Given the description of an element on the screen output the (x, y) to click on. 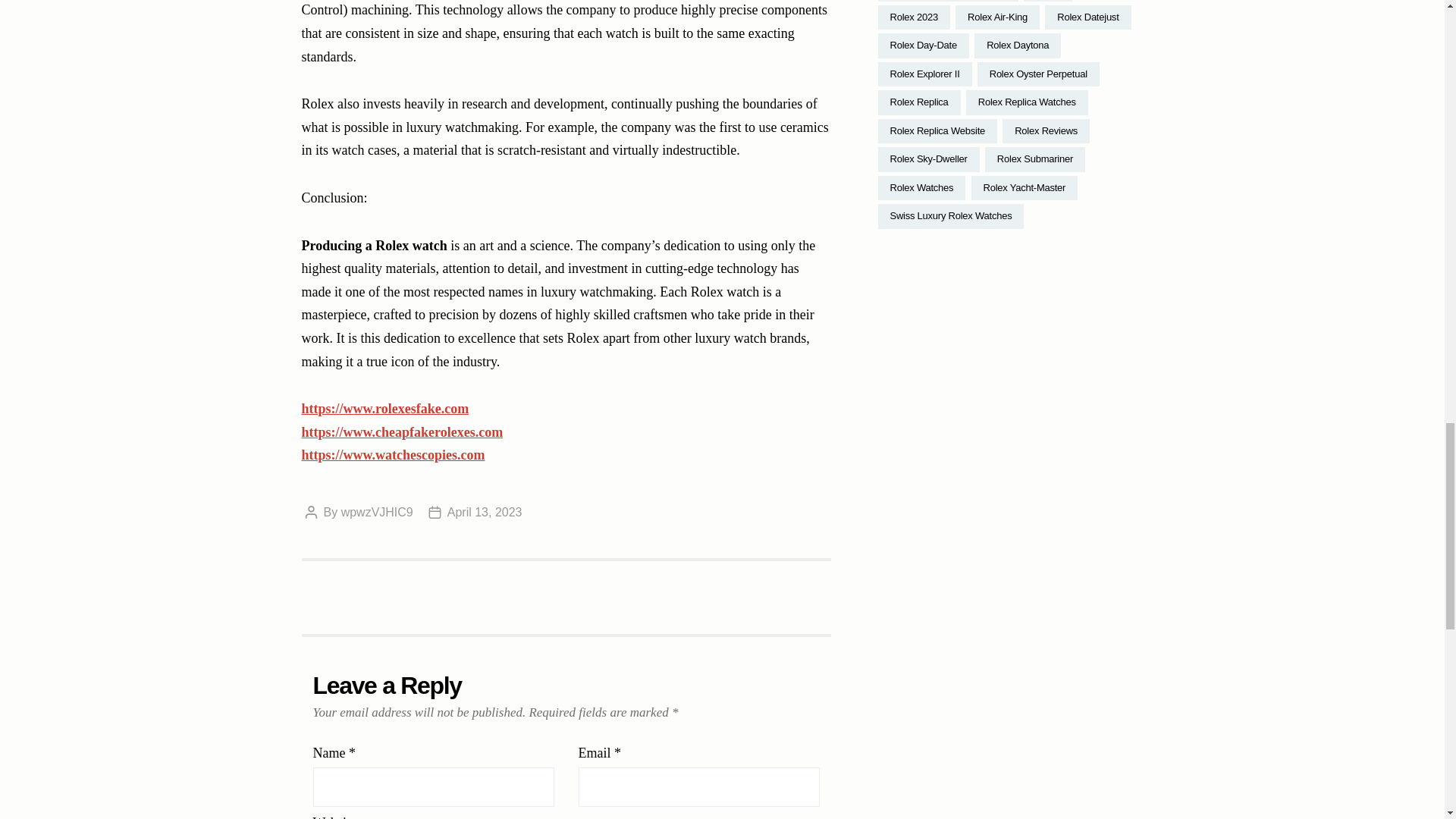
April 13, 2023 (484, 512)
wpwzVJHIC9 (376, 512)
